Given the description of an element on the screen output the (x, y) to click on. 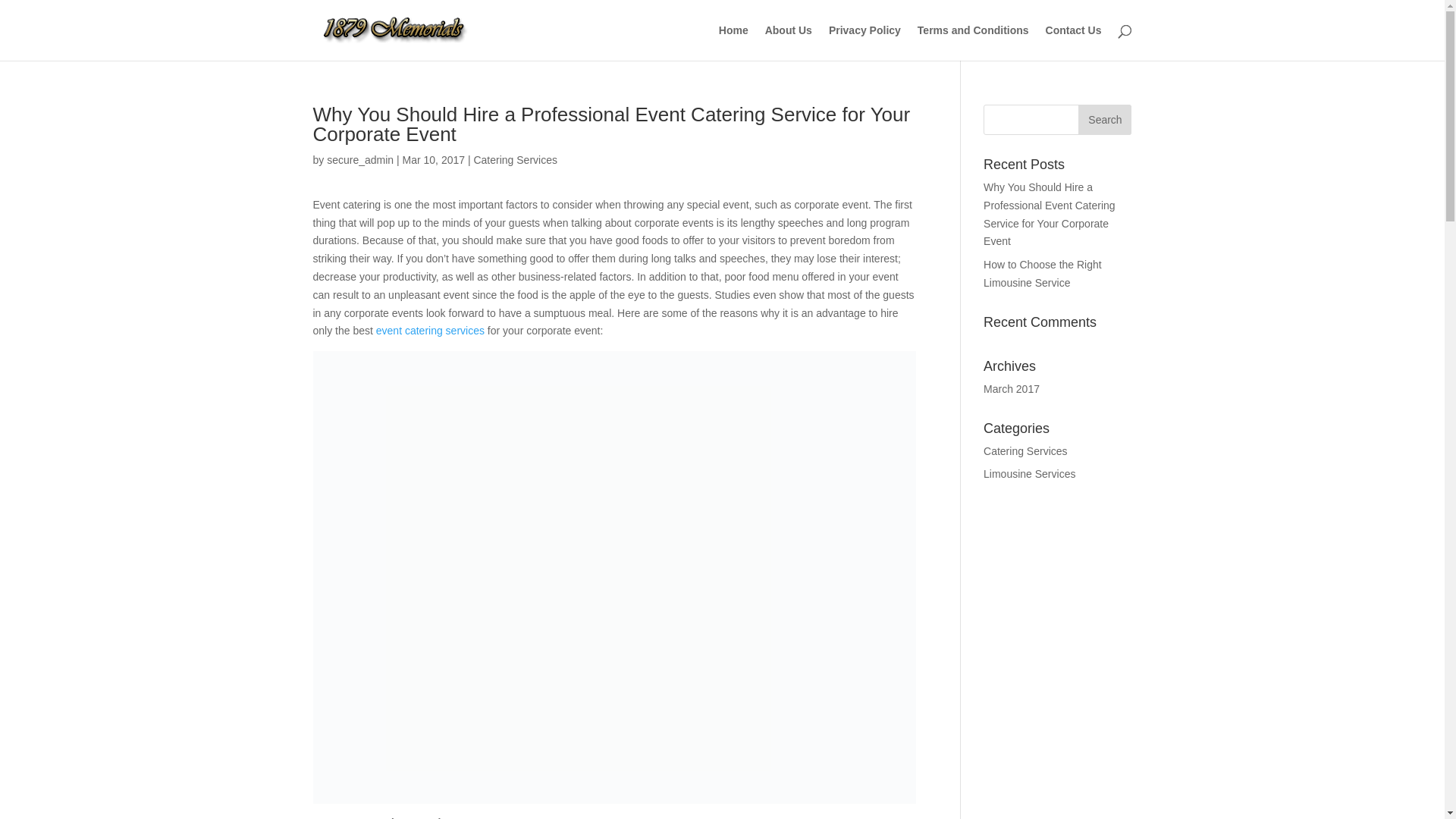
Home Element type: text (733, 42)
Catering Services Element type: text (515, 159)
Catering Services Element type: text (1025, 451)
Contact Us Element type: text (1073, 42)
event catering services Element type: text (430, 330)
Search Element type: text (1104, 119)
How to Choose the Right Limousine Service  Element type: text (1042, 273)
secure_admin Element type: text (359, 159)
Terms and Conditions Element type: text (973, 42)
March 2017 Element type: text (1011, 388)
About Us Element type: text (788, 42)
Privacy Policy Element type: text (864, 42)
Limousine Services Element type: text (1029, 473)
